Given the description of an element on the screen output the (x, y) to click on. 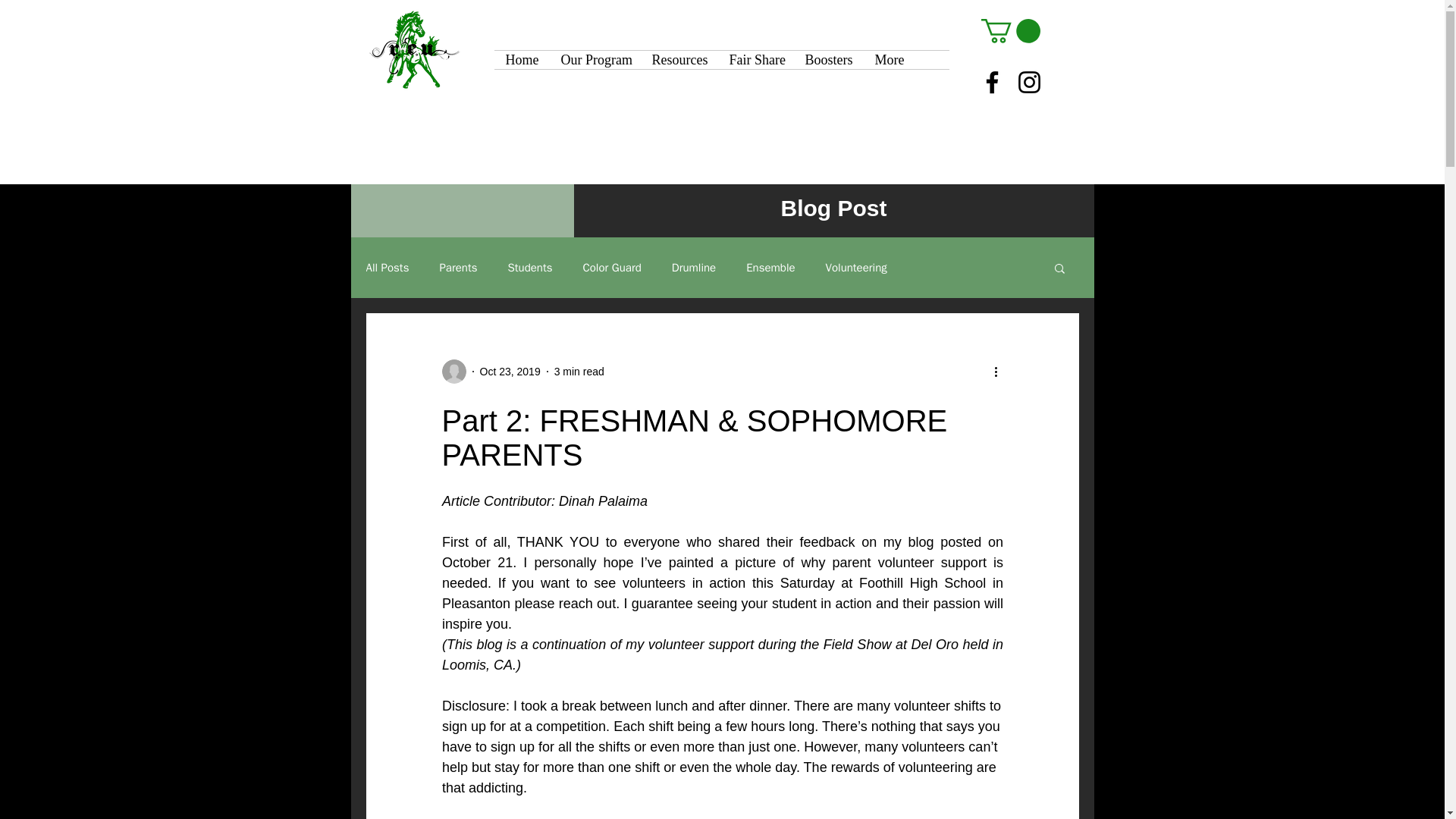
Home (522, 59)
3 min read (579, 371)
Color Guard (611, 268)
Ensemble (769, 268)
All Posts (387, 268)
Oct 23, 2019 (509, 371)
Parents (458, 268)
Students (528, 268)
Drumline (693, 268)
Volunteering (855, 268)
Fair Share (755, 59)
